Given the description of an element on the screen output the (x, y) to click on. 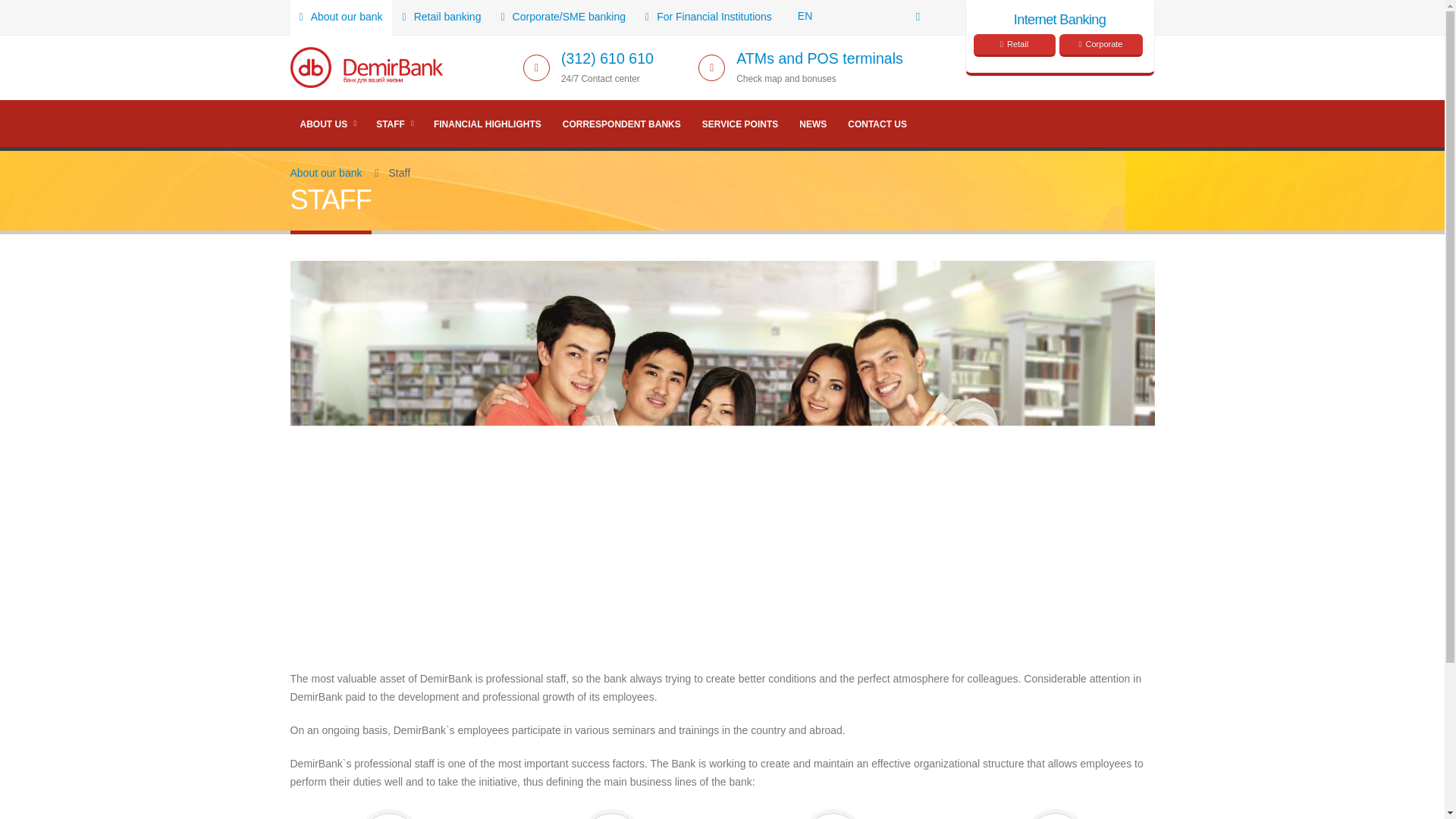
ABOUT US (327, 123)
FINANCIAL HIGHLIGHTS (487, 123)
For Financial Institutions (708, 16)
CONTACT US (877, 123)
ATMs and POS terminals (819, 57)
Retail (1014, 45)
CORRESPONDENT BANKS (621, 123)
Retail banking (441, 16)
Corporate (1099, 45)
About our bank (340, 16)
